Given the description of an element on the screen output the (x, y) to click on. 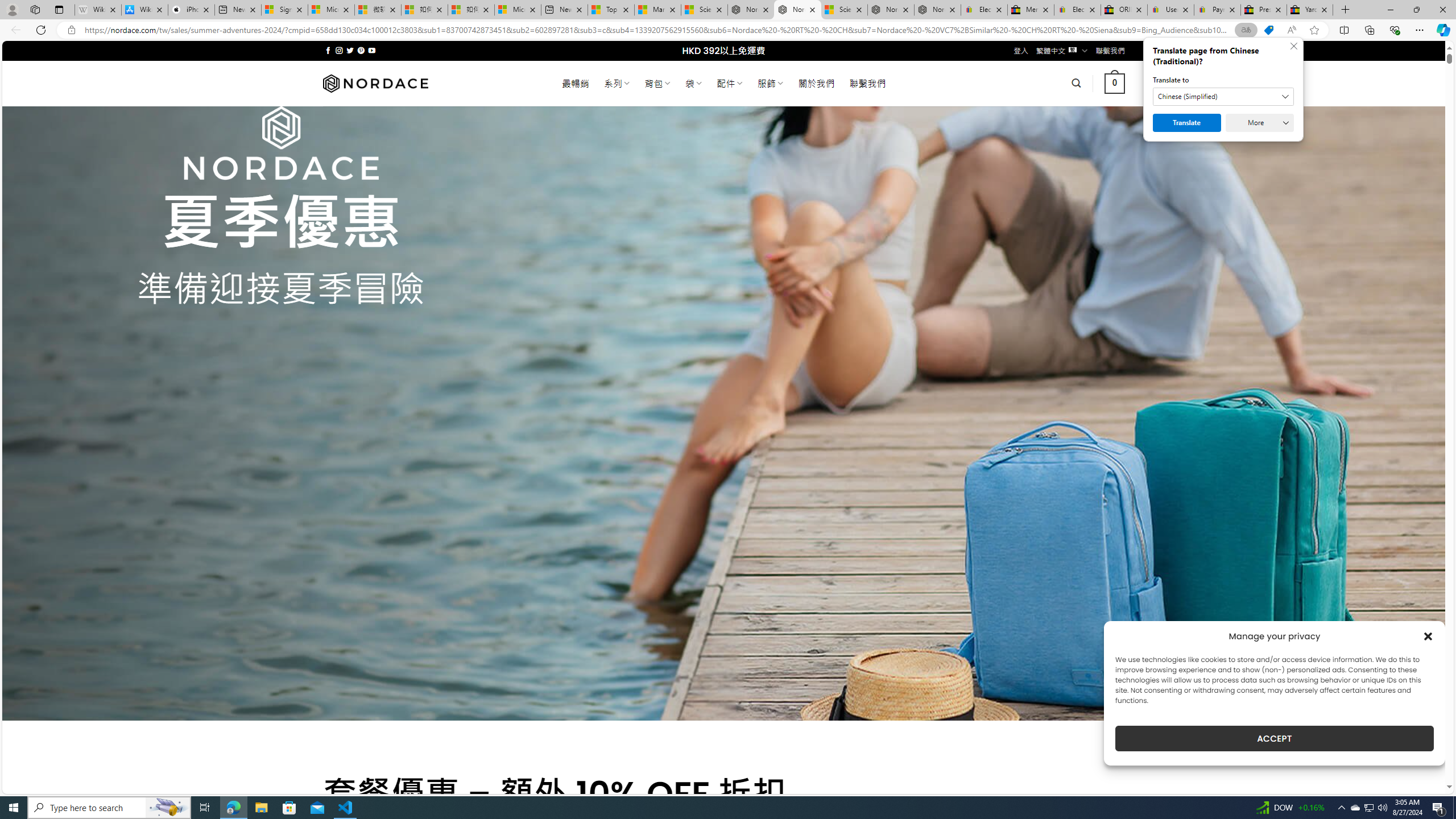
  0   (1115, 83)
ACCEPT (1274, 738)
Translate to (1223, 96)
